Given the description of an element on the screen output the (x, y) to click on. 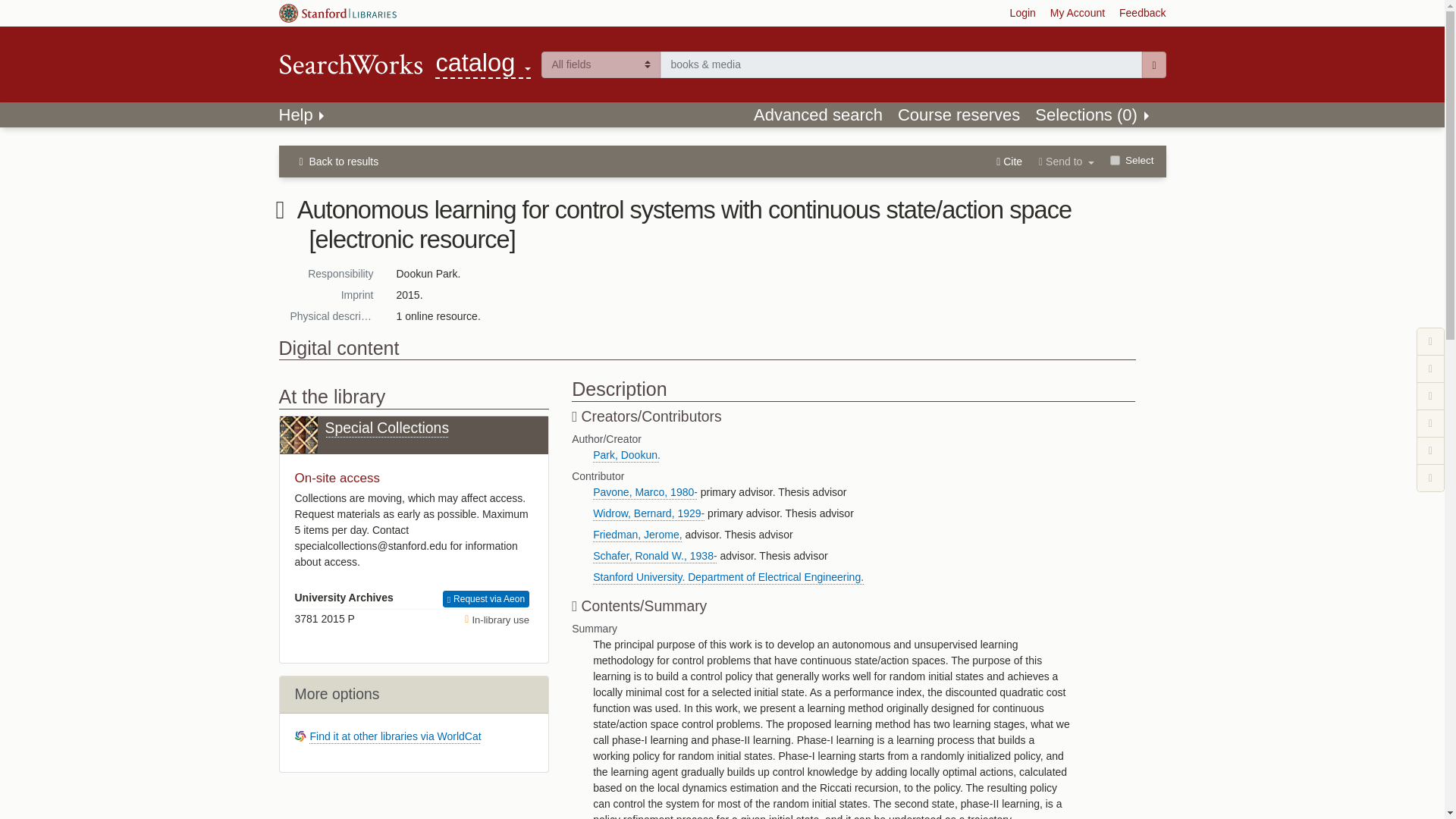
Special Collections (413, 435)
Skip to search (483, 63)
Help (1022, 13)
Targeted search options (302, 114)
Cite (601, 64)
Course reserves (1008, 158)
Send to (959, 114)
  Back to results (1066, 158)
Feedback (340, 161)
My Account (1142, 13)
Advanced search (1077, 13)
Opens in new tab (818, 114)
